Given the description of an element on the screen output the (x, y) to click on. 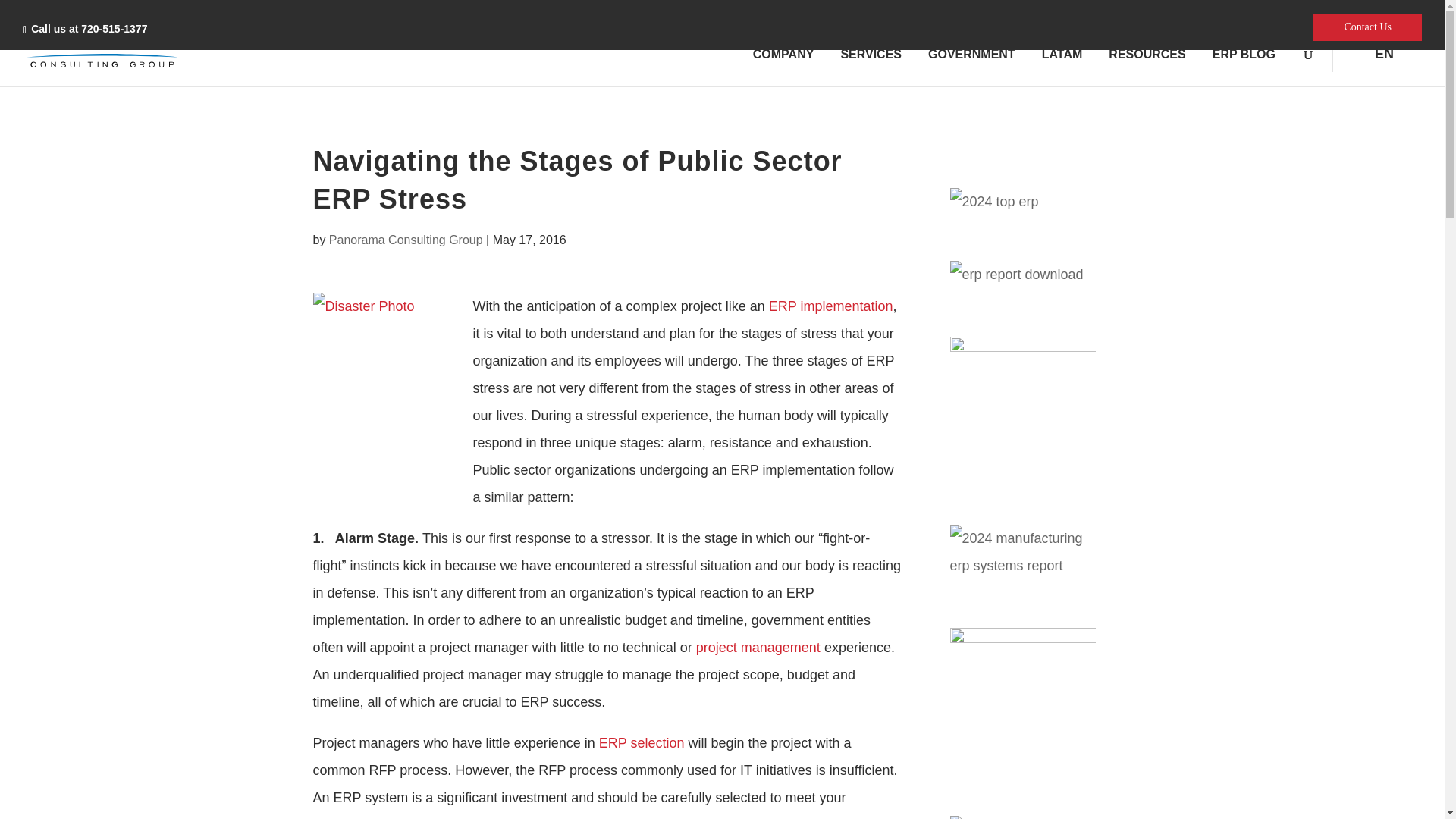
LATAM (1062, 54)
Posts by Panorama Consulting Group (406, 239)
Contact Us (1367, 26)
Call us at 720-515-1377 (88, 28)
